Given the description of an element on the screen output the (x, y) to click on. 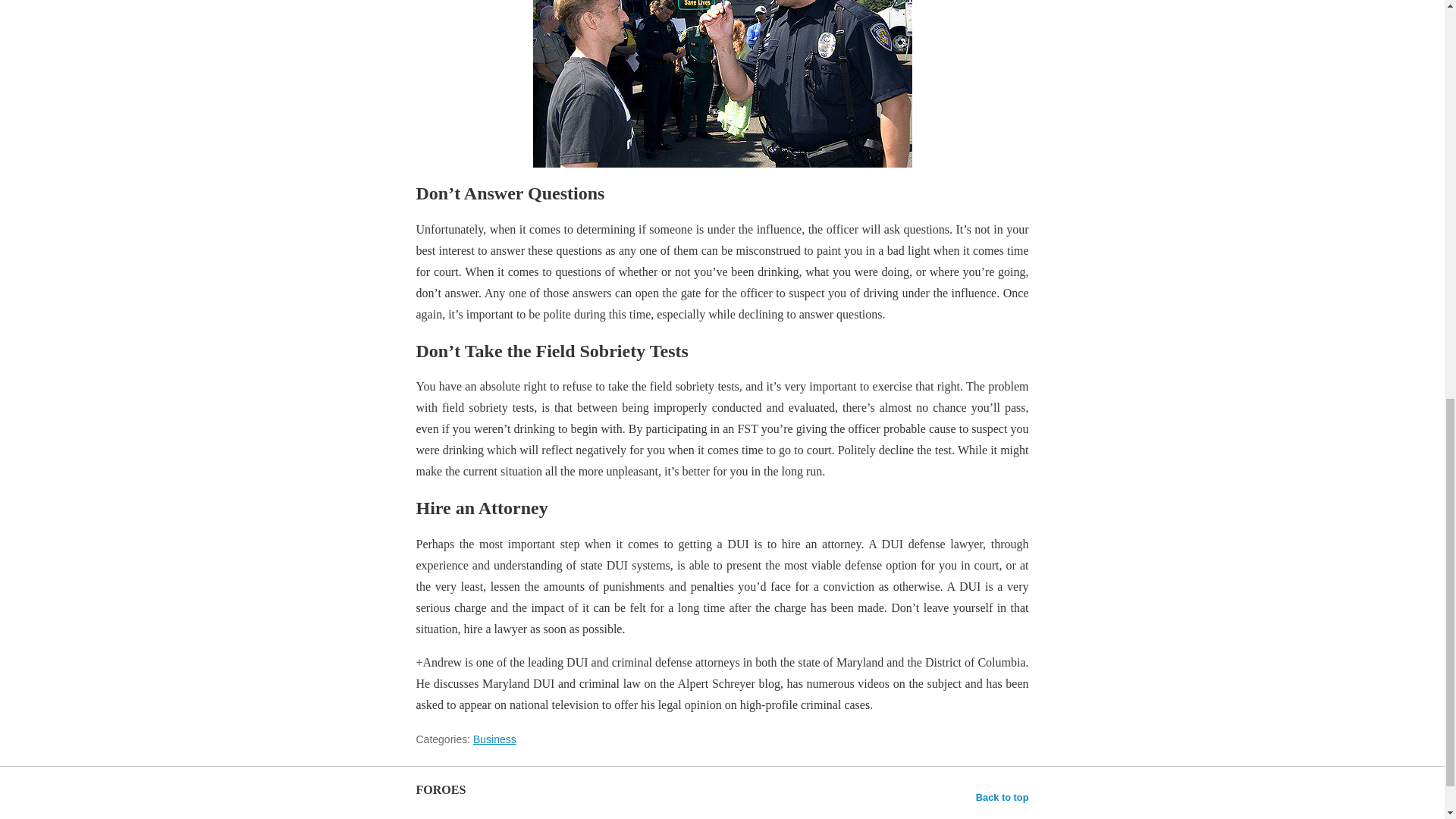
Business (494, 739)
Back to top (1002, 797)
